Given the description of an element on the screen output the (x, y) to click on. 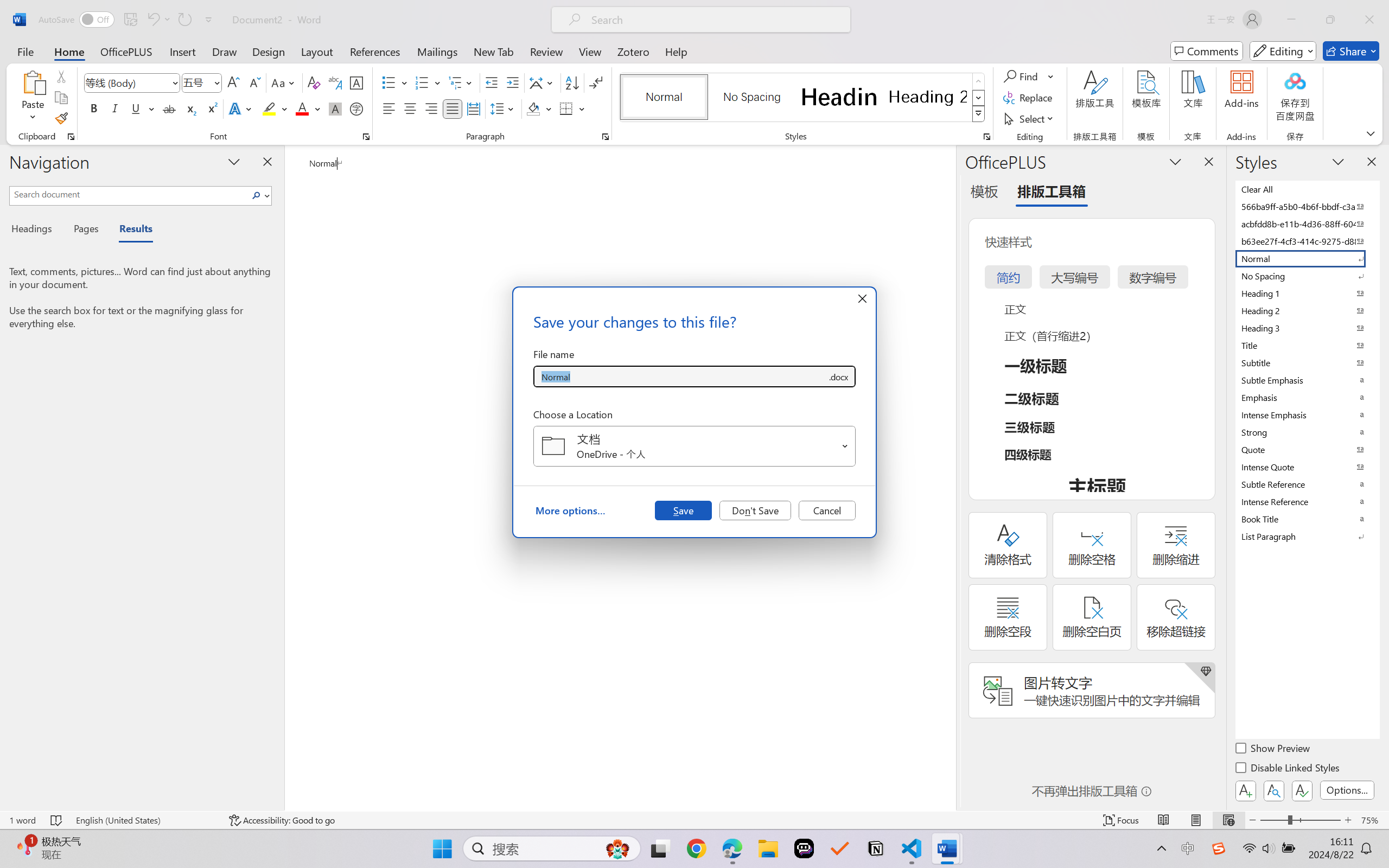
Poe (804, 848)
AutomationID: QuickStylesGallery (802, 97)
Class: NetUIButton (1301, 790)
Strong (1306, 431)
Share (1350, 51)
Undo Apply Quick Style (152, 19)
Normal (1306, 258)
Text Highlight Color (274, 108)
Change Case (284, 82)
